Given the description of an element on the screen output the (x, y) to click on. 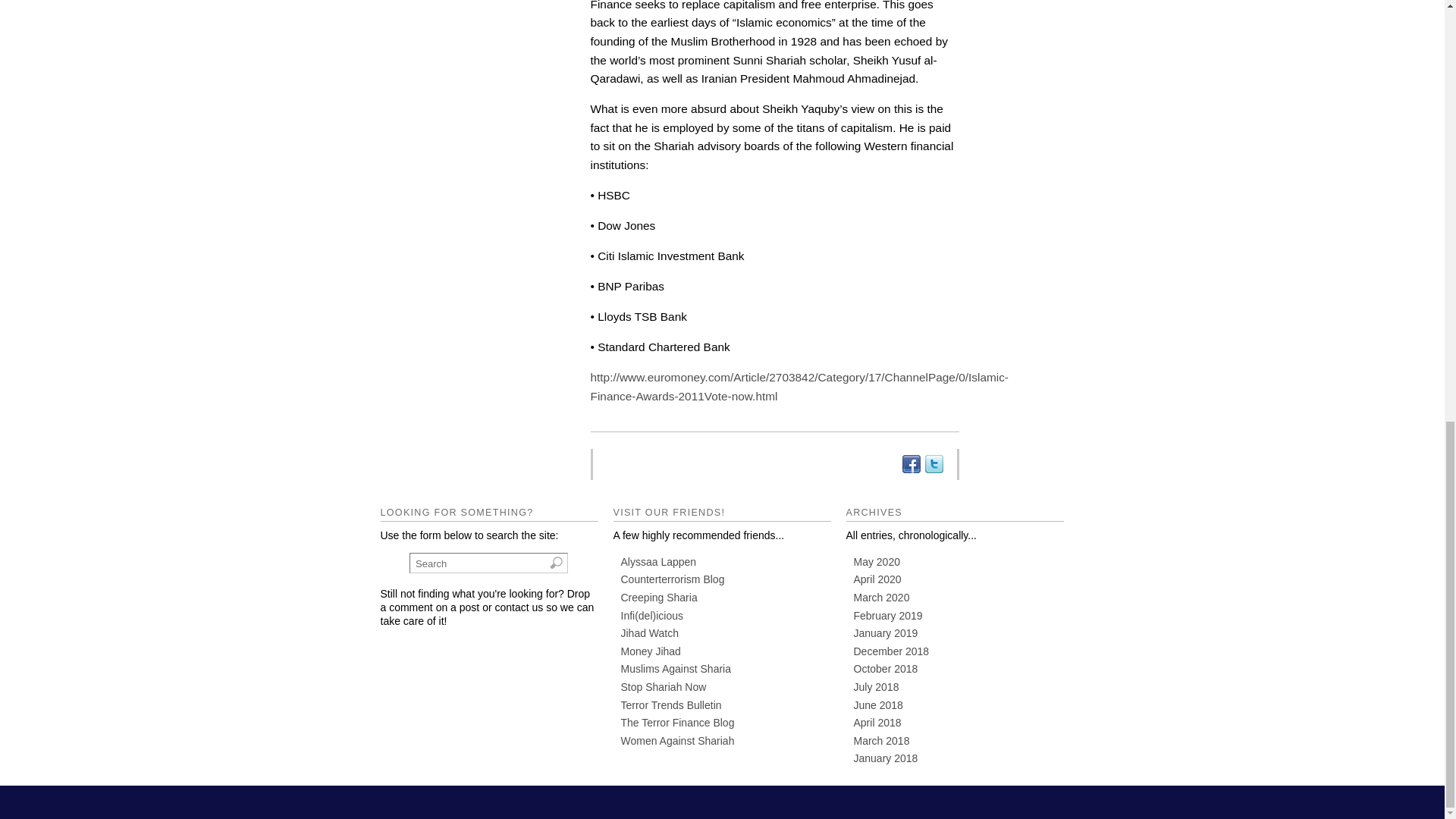
Muslims Against Sharia (675, 668)
Share on Facebook (910, 463)
Alyssaa Lappen (657, 562)
The Blog Exposing Jihadist Financing (649, 651)
Creeping Sharia (658, 597)
Stop Shariah Now (663, 686)
Counterterrorism Blog (671, 579)
Search (488, 562)
Jihad Watch (649, 633)
Search (488, 562)
Share on Twitter (933, 463)
Money Jihad (649, 651)
